Given the description of an element on the screen output the (x, y) to click on. 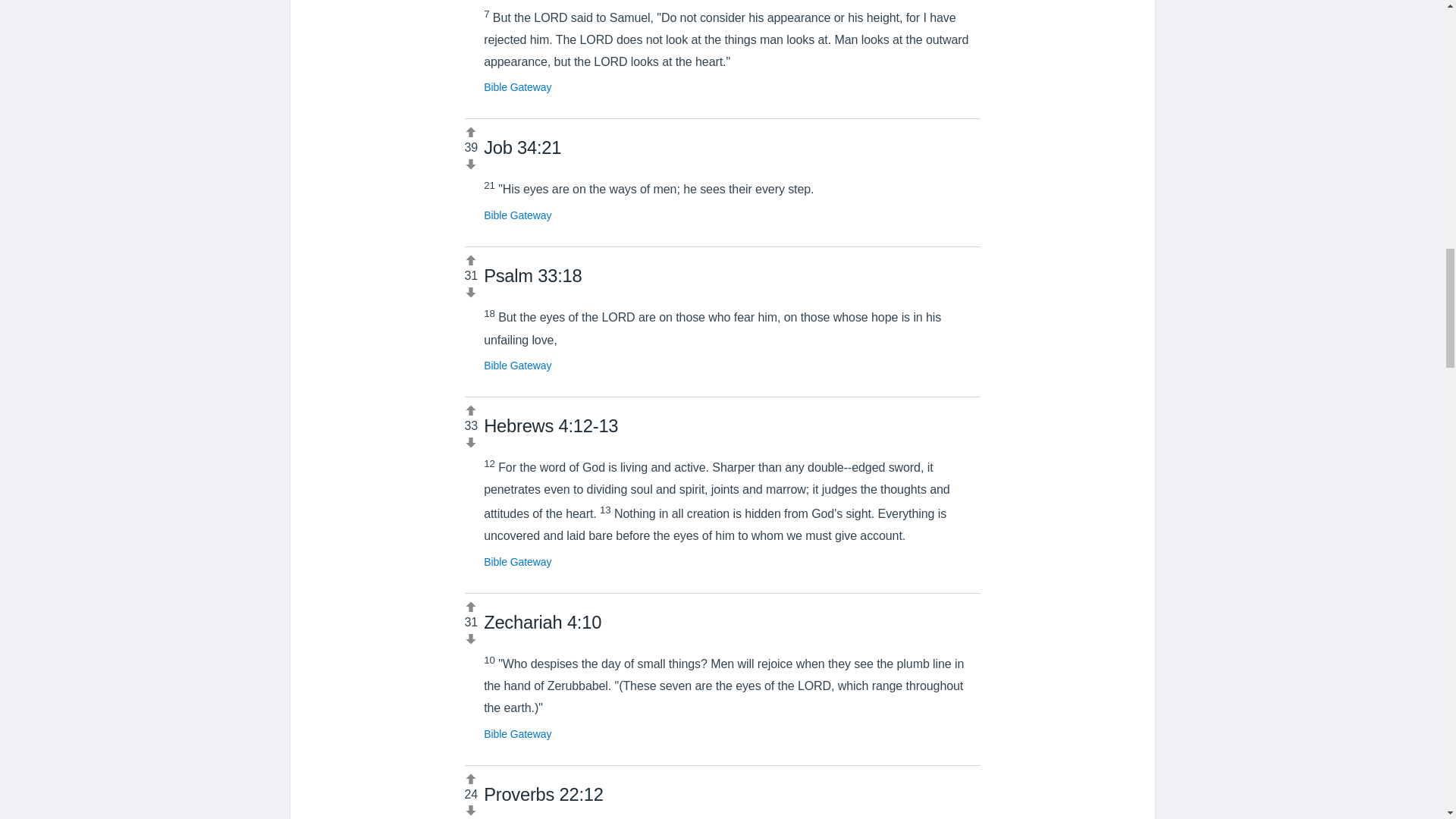
Bible Gateway (517, 215)
Bible Gateway (517, 365)
Bible Gateway (517, 734)
Bible Gateway (517, 562)
Bible Gateway (517, 87)
